Given the description of an element on the screen output the (x, y) to click on. 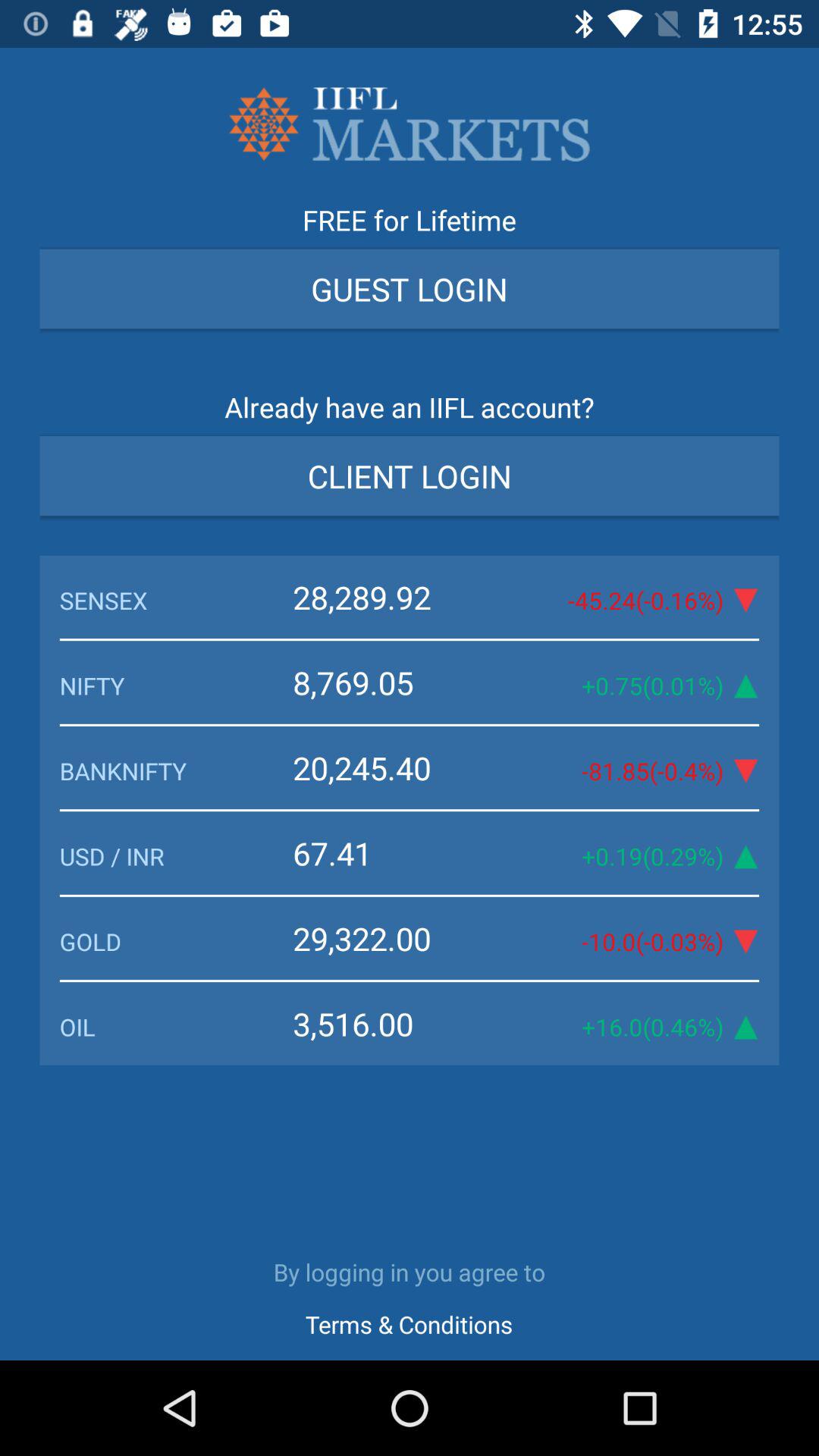
launch banknifty icon (175, 770)
